Given the description of an element on the screen output the (x, y) to click on. 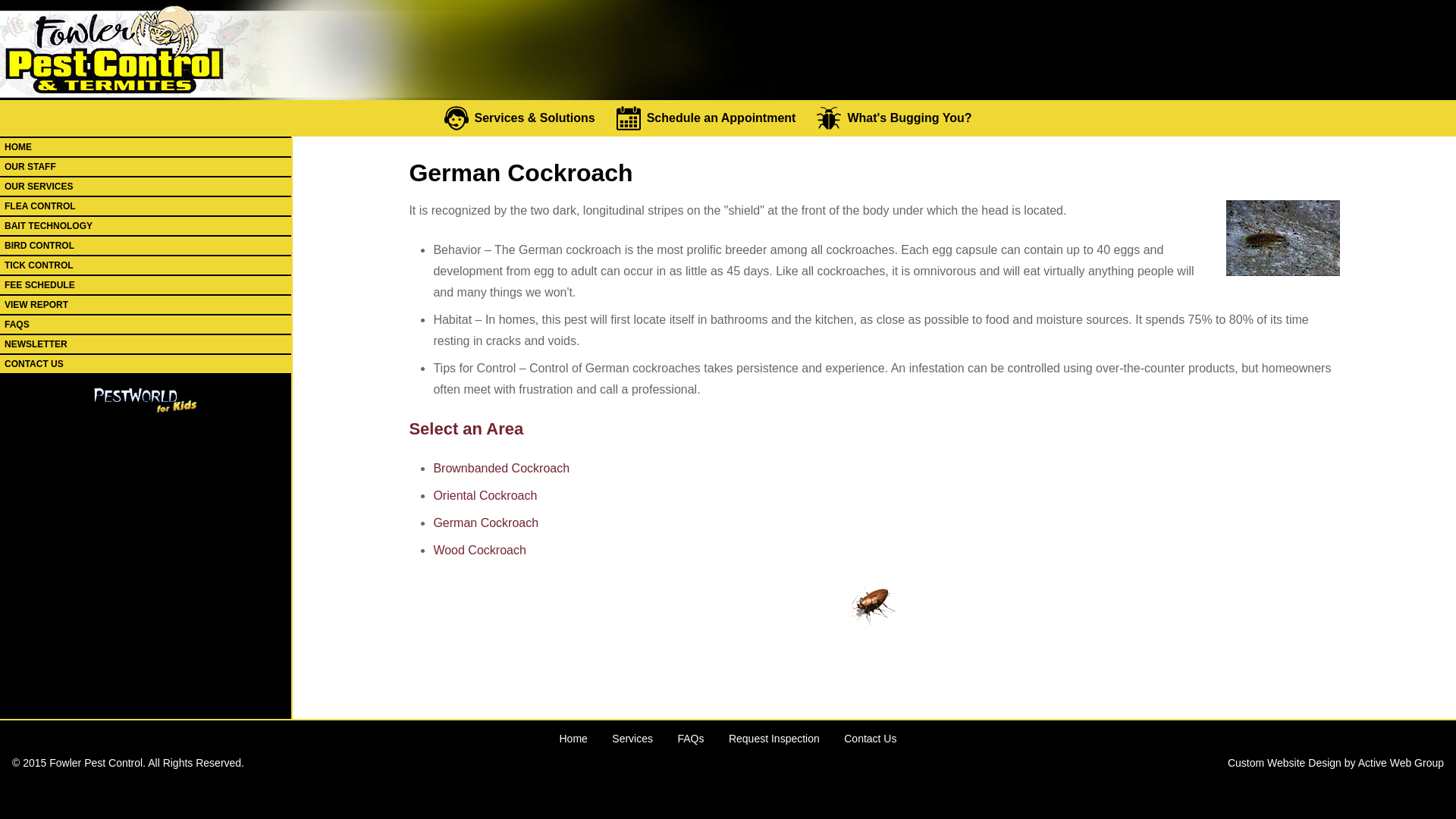
What's Bugging You? (904, 118)
TICK CONTROL (145, 265)
OUR STAFF (145, 167)
Brownbanded Cockroach (500, 468)
OUR SERVICES (145, 186)
VIEW REPORT (145, 304)
Custom Website Design (1283, 762)
HOME (145, 147)
FAQS (145, 324)
FEE SCHEDULE (145, 285)
